Given the description of an element on the screen output the (x, y) to click on. 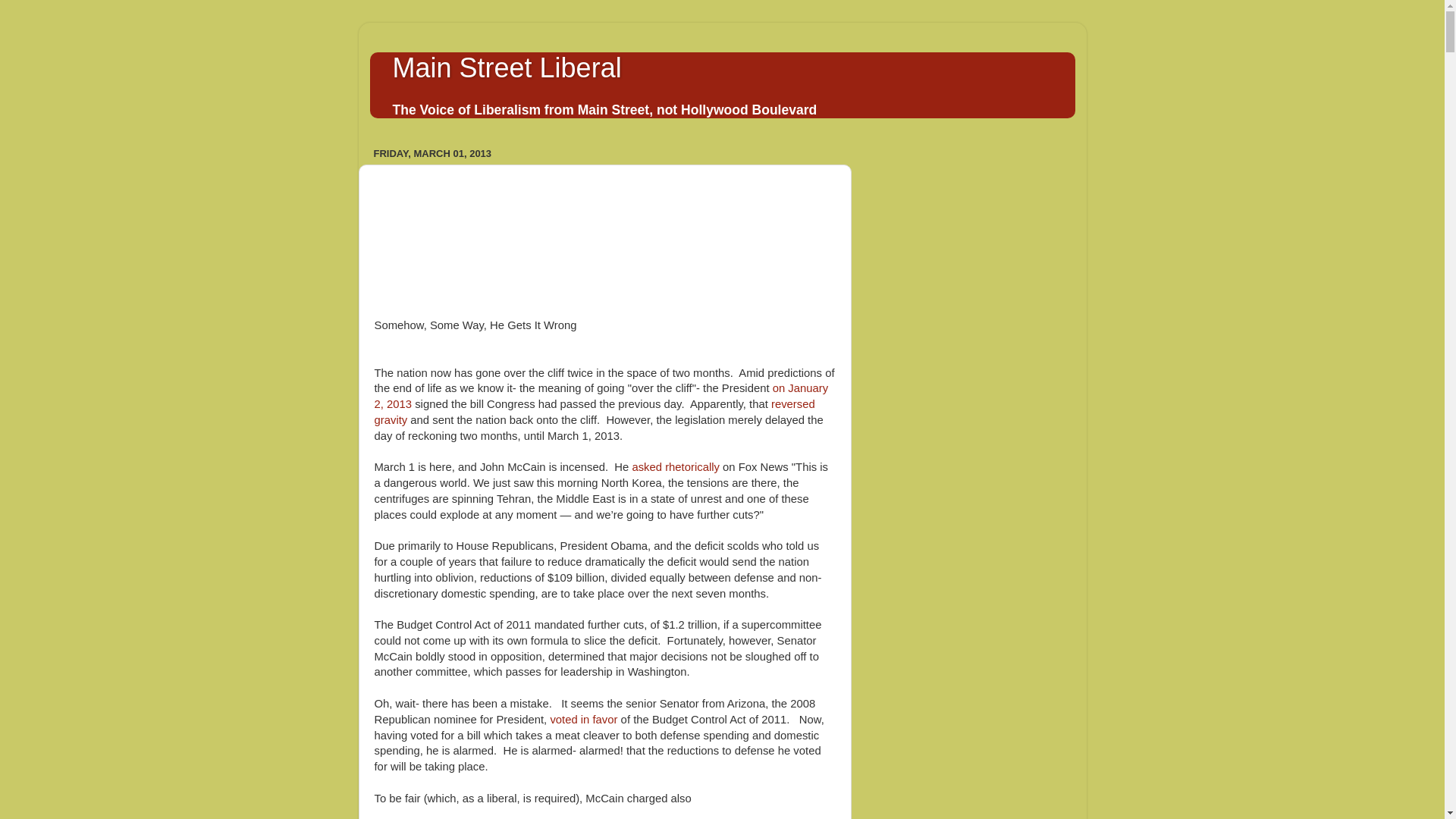
reversed gravity (594, 411)
Main Street Liberal (507, 67)
asked rhetorically (675, 467)
on January 2, 2013 (601, 396)
voted in favor (583, 719)
